Given the description of an element on the screen output the (x, y) to click on. 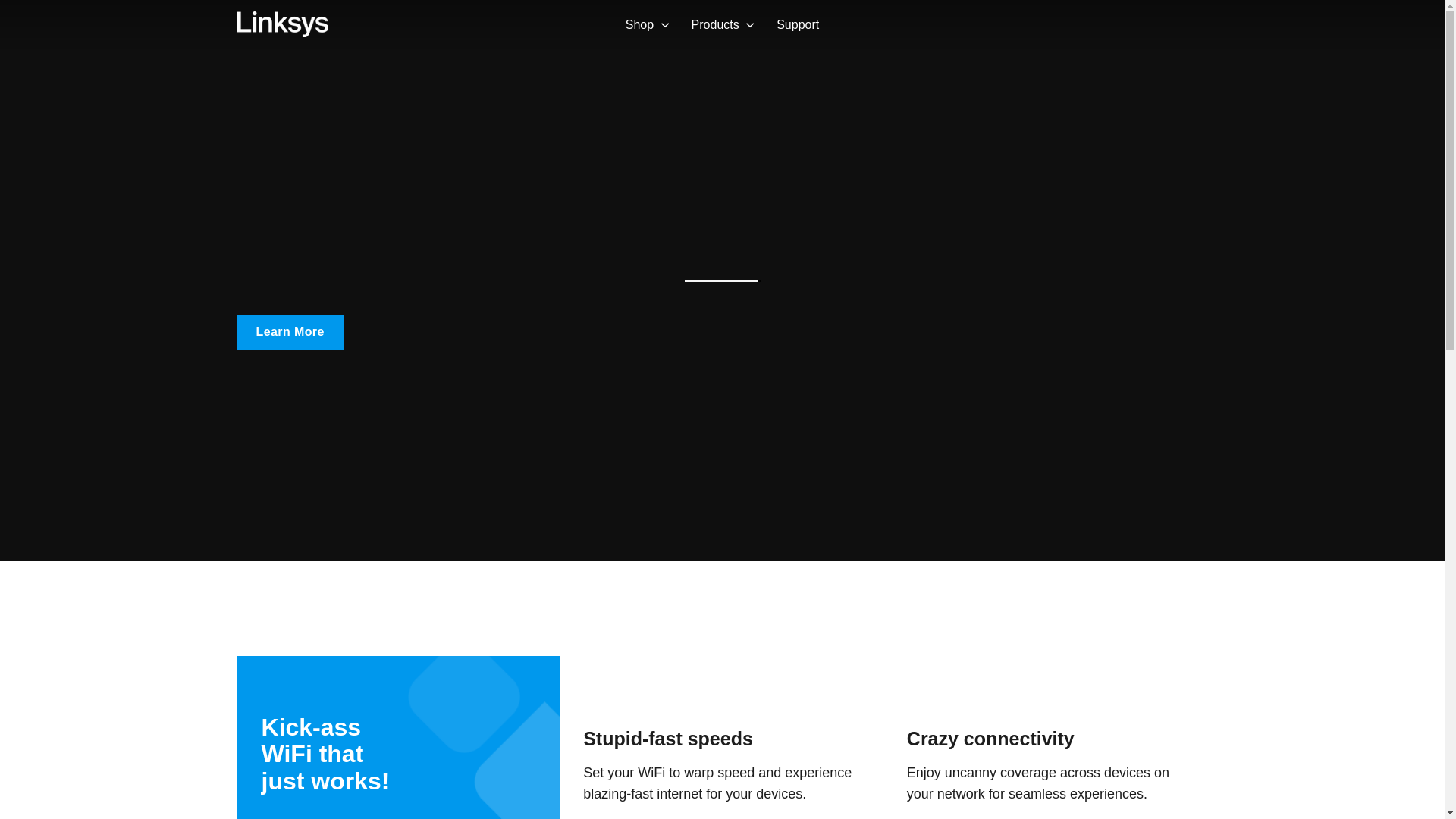
Support (797, 24)
Learn More (288, 332)
